Given the description of an element on the screen output the (x, y) to click on. 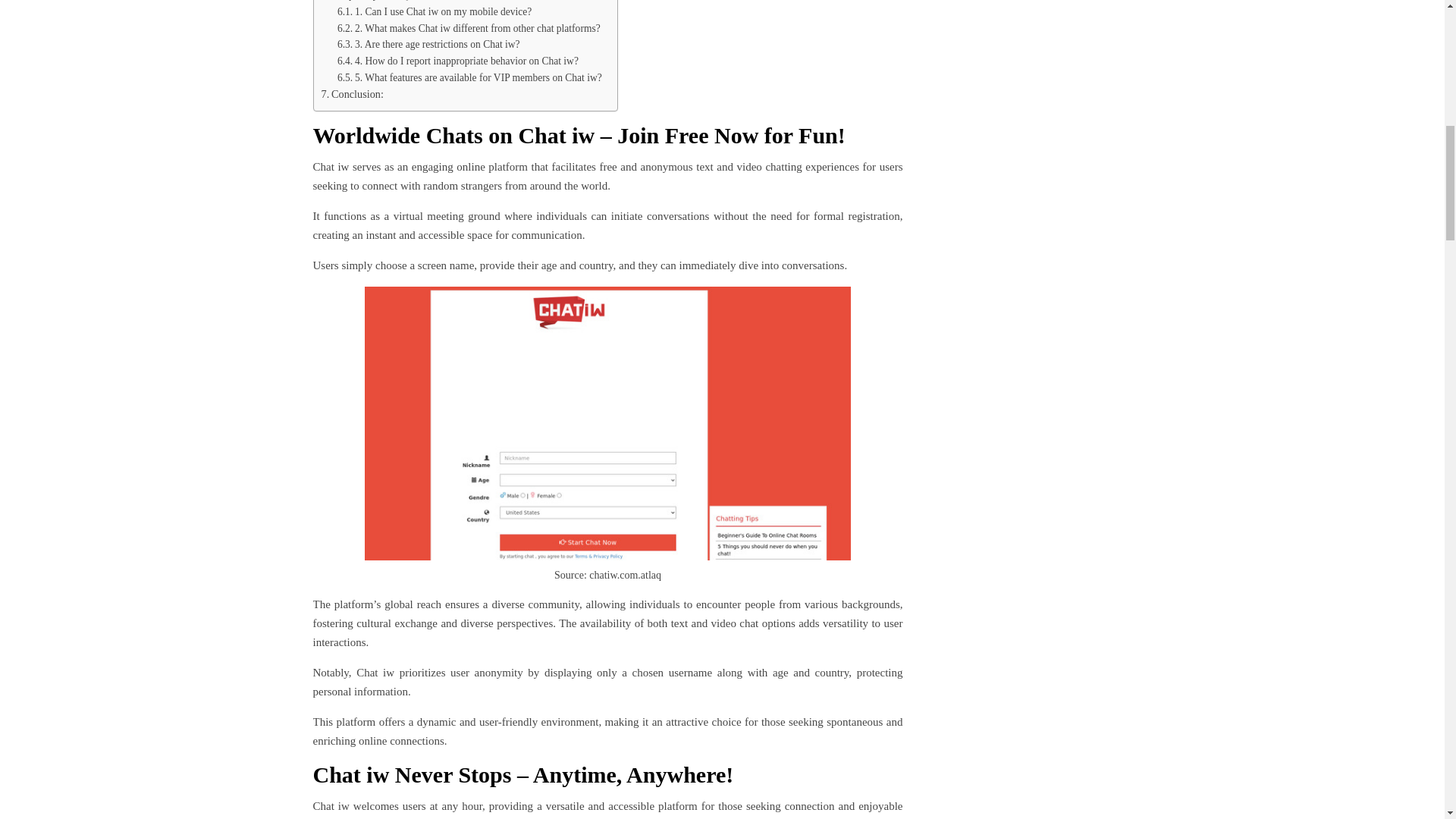
Conclusion: (352, 94)
2. What makes Chat iw different from other chat platforms? (468, 28)
4. How do I report inappropriate behavior on Chat iw? (457, 61)
4. How do I report inappropriate behavior on Chat iw? (457, 61)
1. Can I use Chat iw on my mobile device? (434, 12)
Conclusion: (352, 94)
2. What makes Chat iw different from other chat platforms? (468, 28)
Frequently Ask Questions: (383, 2)
5. What features are available for VIP members on Chat iw? (469, 77)
3. Are there age restrictions on Chat iw? (428, 44)
